Given the description of an element on the screen output the (x, y) to click on. 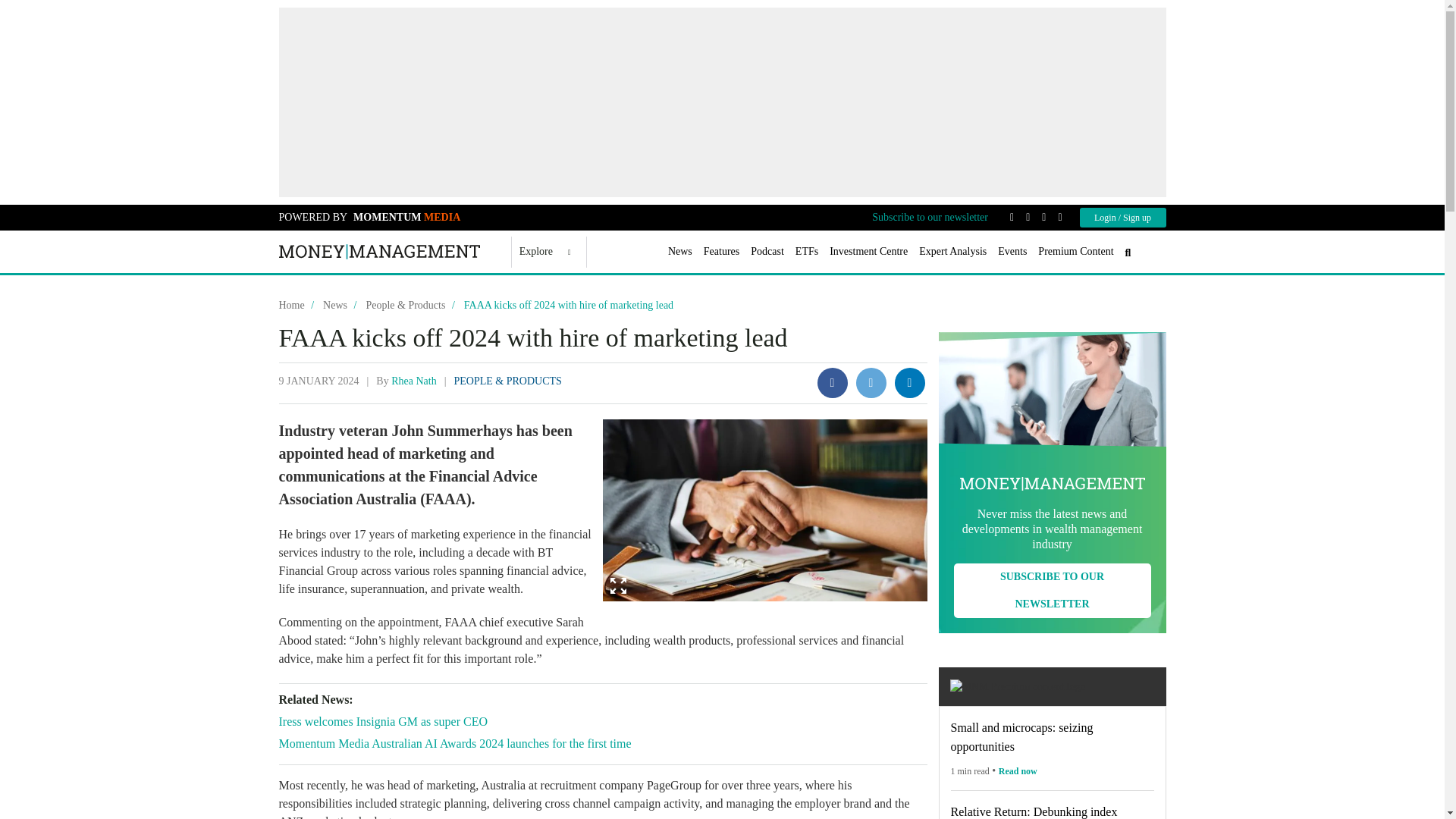
Sign up (1136, 217)
Explore (545, 251)
Subscribe to our newsletter (930, 216)
Login (1105, 217)
MOMENTUM MEDIA (404, 216)
Home (379, 251)
